Given the description of an element on the screen output the (x, y) to click on. 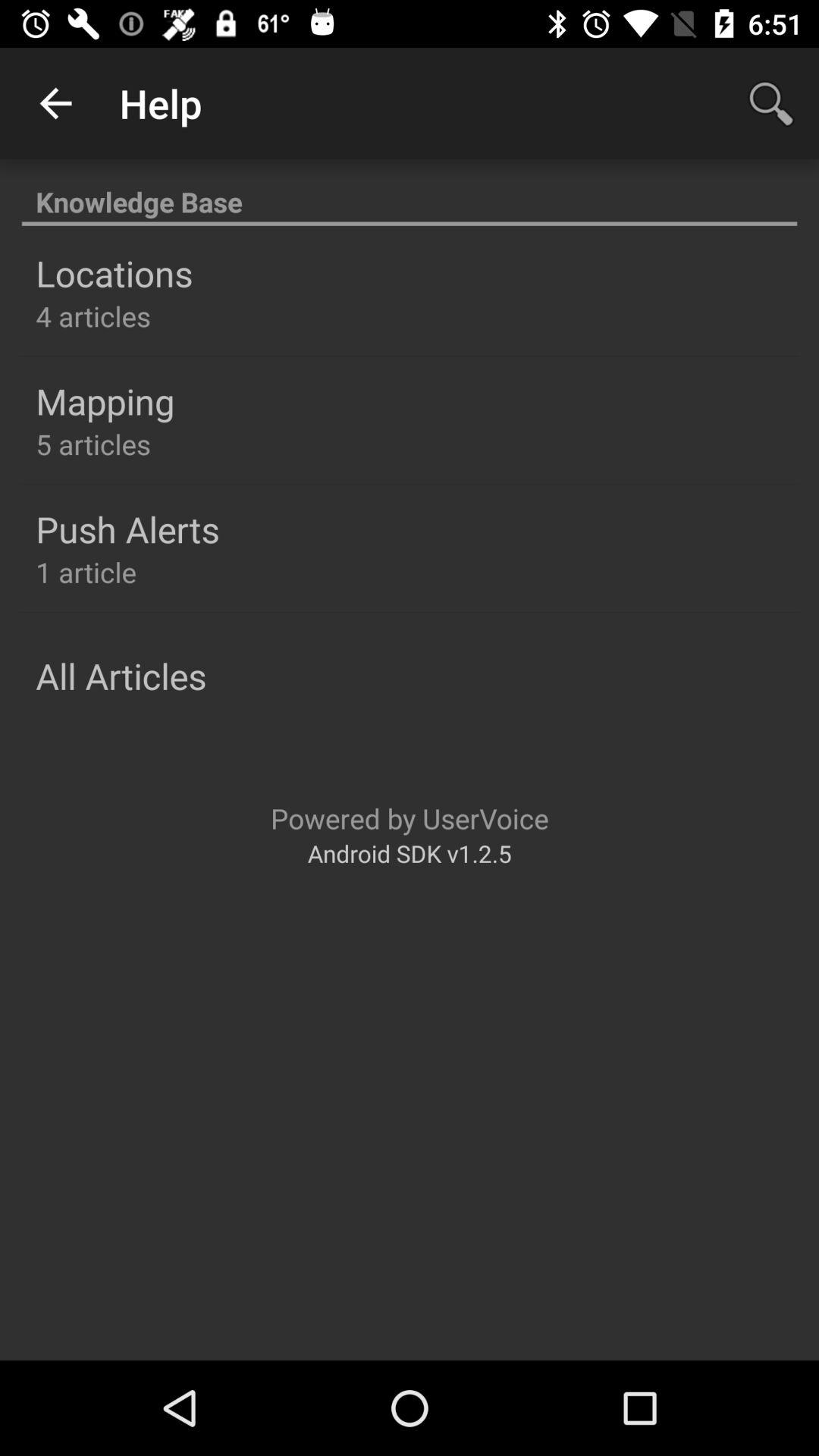
jump until the all articles icon (120, 675)
